Given the description of an element on the screen output the (x, y) to click on. 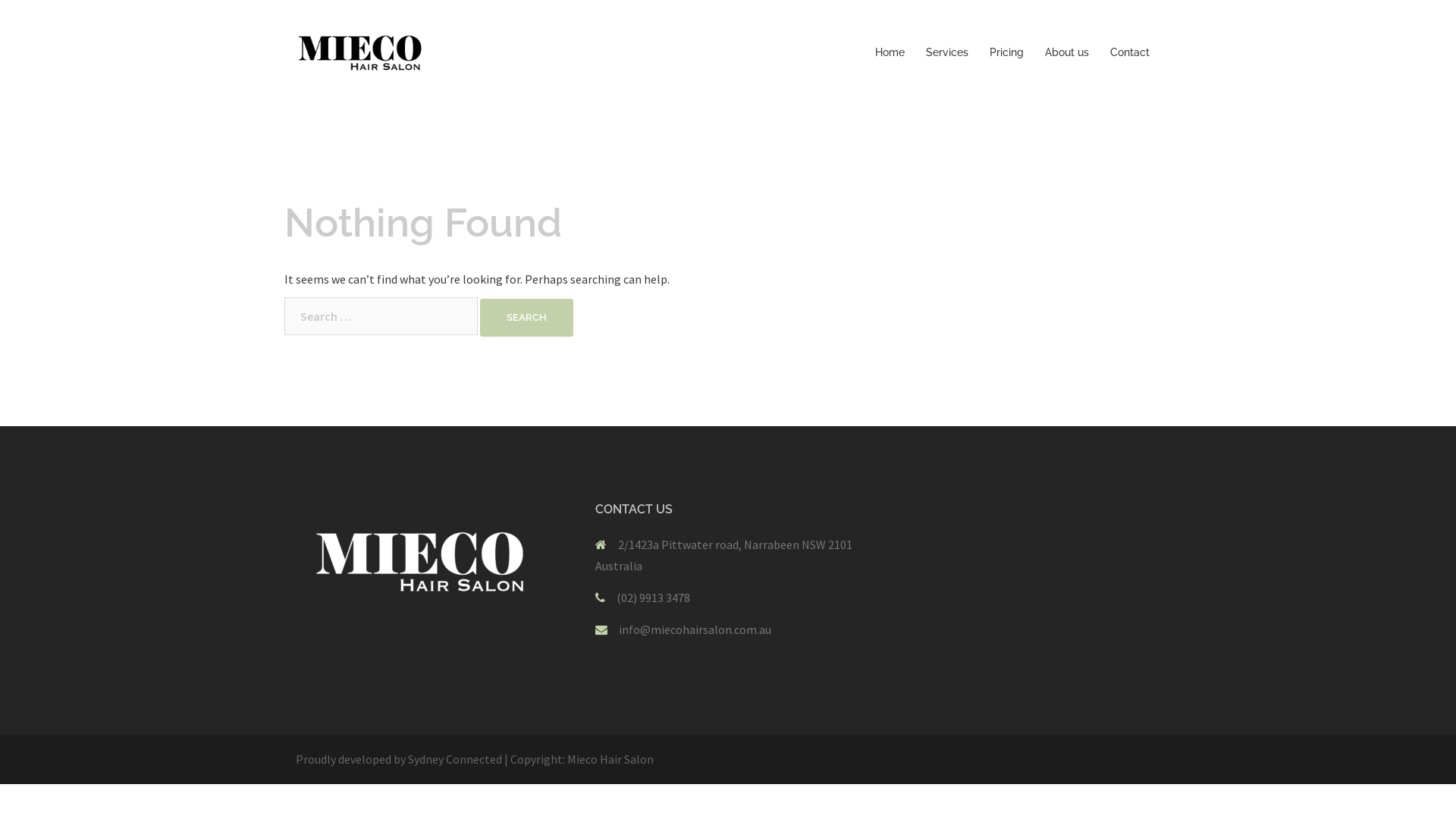
Skip to content Element type: text (0, 0)
info@miecohairsalon.com.au Element type: text (694, 629)
Pricing Element type: text (1006, 52)
Proudly developed by Sydney Connected Element type: text (398, 758)
Search Element type: text (526, 317)
Services Element type: text (946, 52)
Mieco Hair Salon Narrabeen Element type: hover (362, 51)
About us Element type: text (1066, 52)
Contact Element type: text (1129, 52)
Home Element type: text (889, 52)
